Given the description of an element on the screen output the (x, y) to click on. 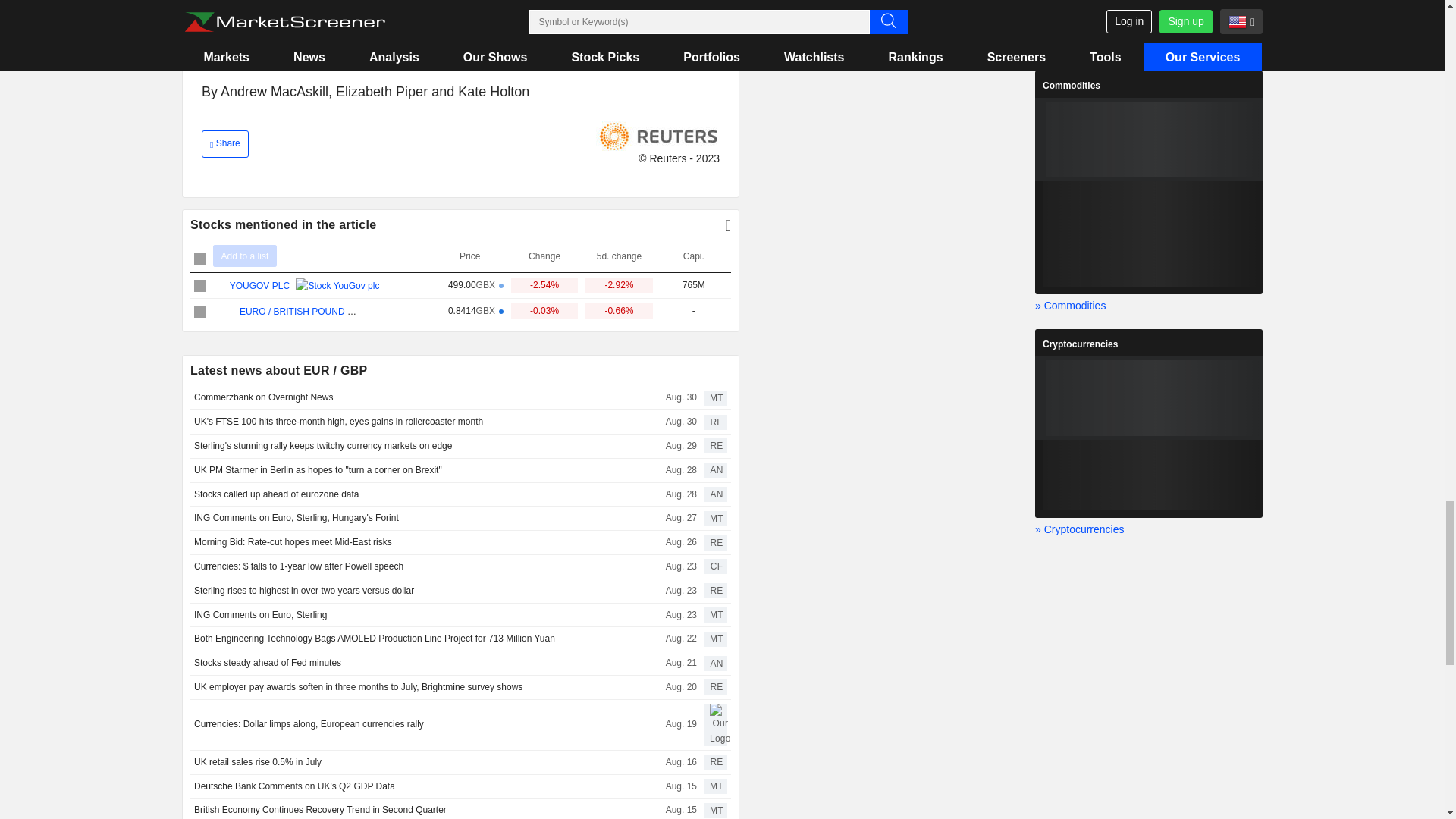
on (199, 285)
on (199, 259)
on (199, 311)
